Given the description of an element on the screen output the (x, y) to click on. 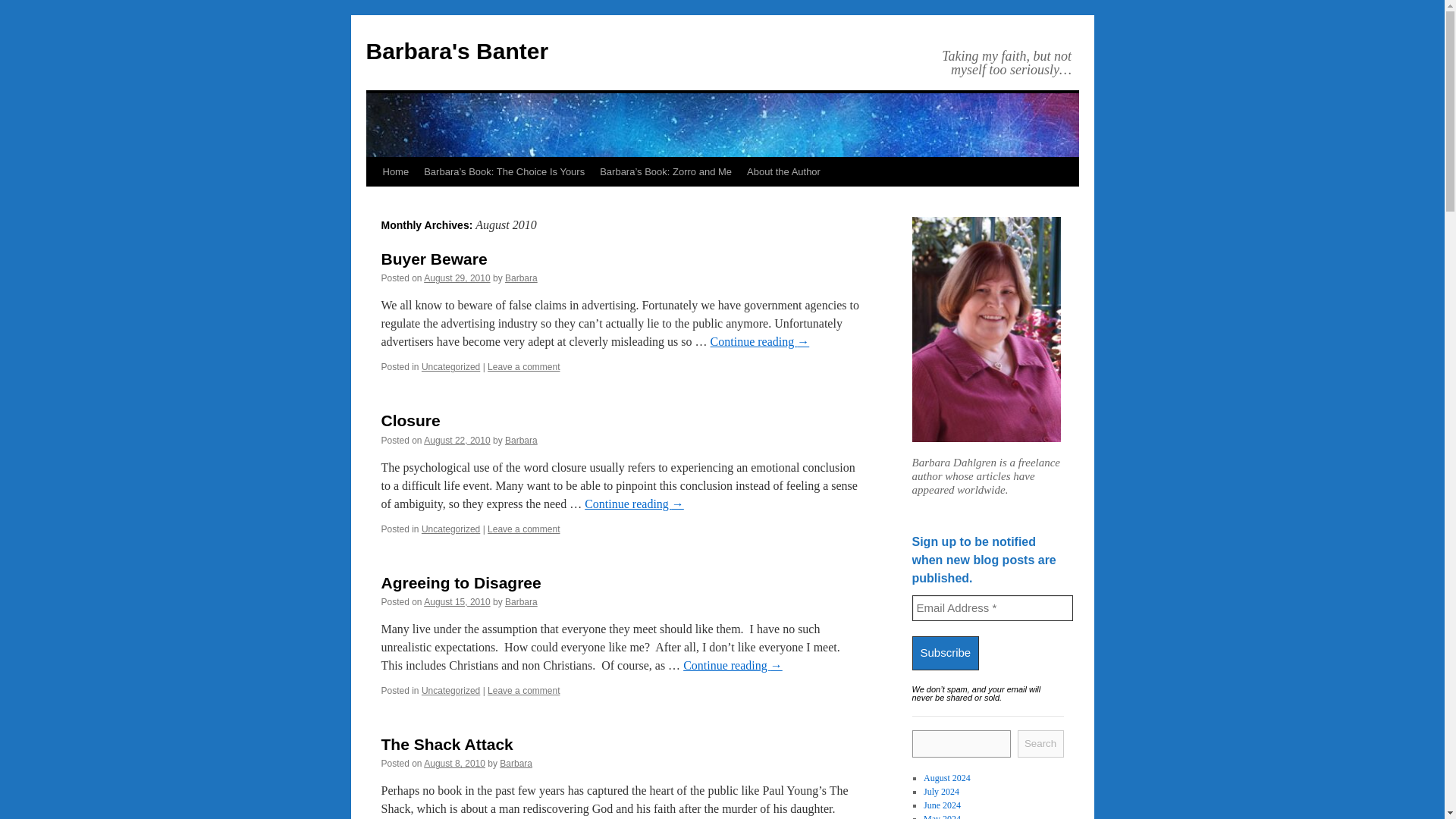
Barbara (521, 277)
Barbara (521, 602)
Barbara's Banter (456, 50)
Uncategorized (451, 529)
10:00 am (456, 439)
View all posts by Barbara (521, 602)
11:31 pm (456, 277)
Barbara (515, 763)
August 15, 2010 (456, 602)
Search (1040, 743)
